Given the description of an element on the screen output the (x, y) to click on. 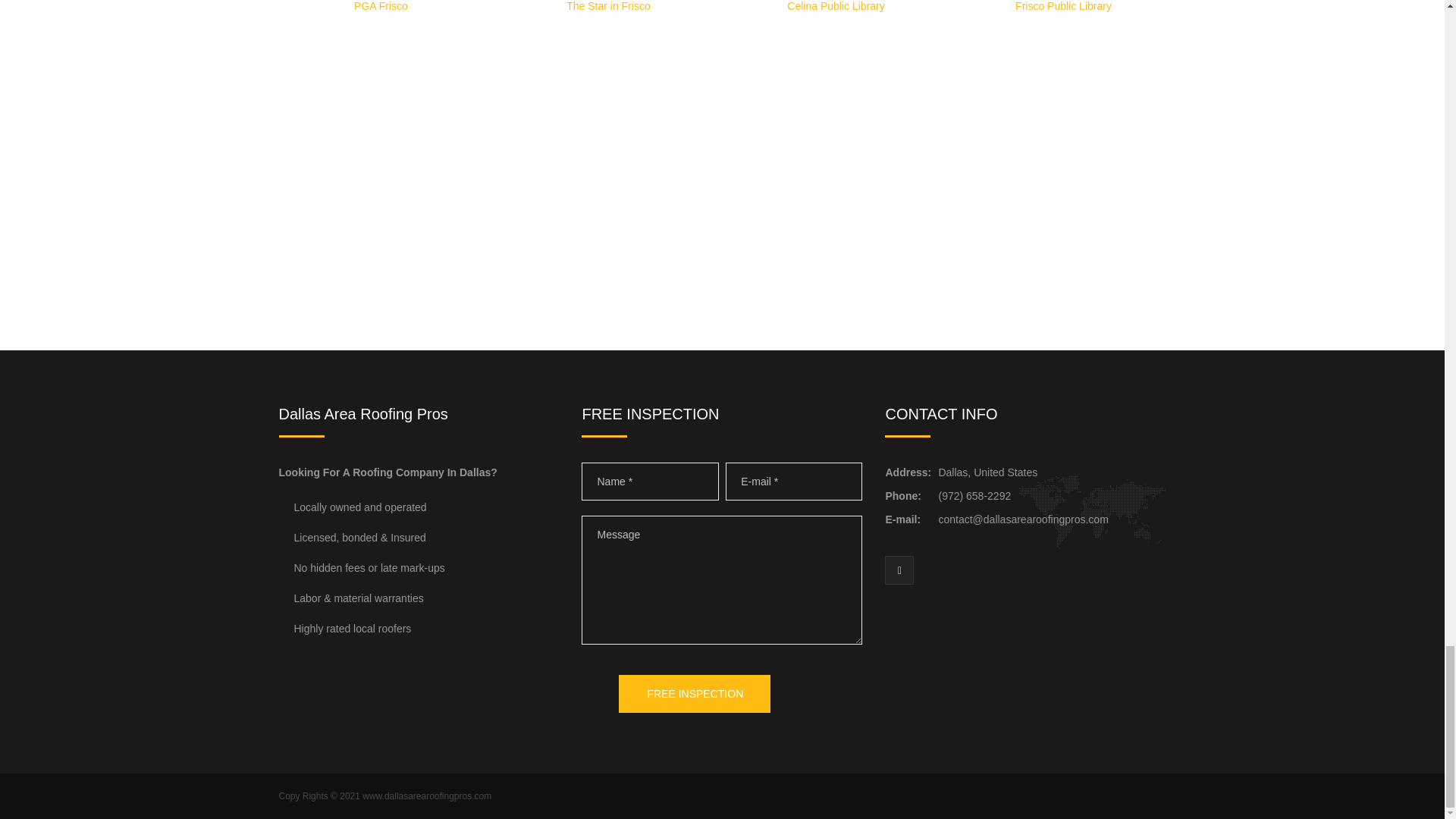
PGA Frisco (380, 6)
FREE INSPECTION (694, 693)
Celina Public Library (835, 6)
Frisco Public Library (1063, 6)
The Star in Frisco (607, 6)
FREE INSPECTION (694, 693)
